Given the description of an element on the screen output the (x, y) to click on. 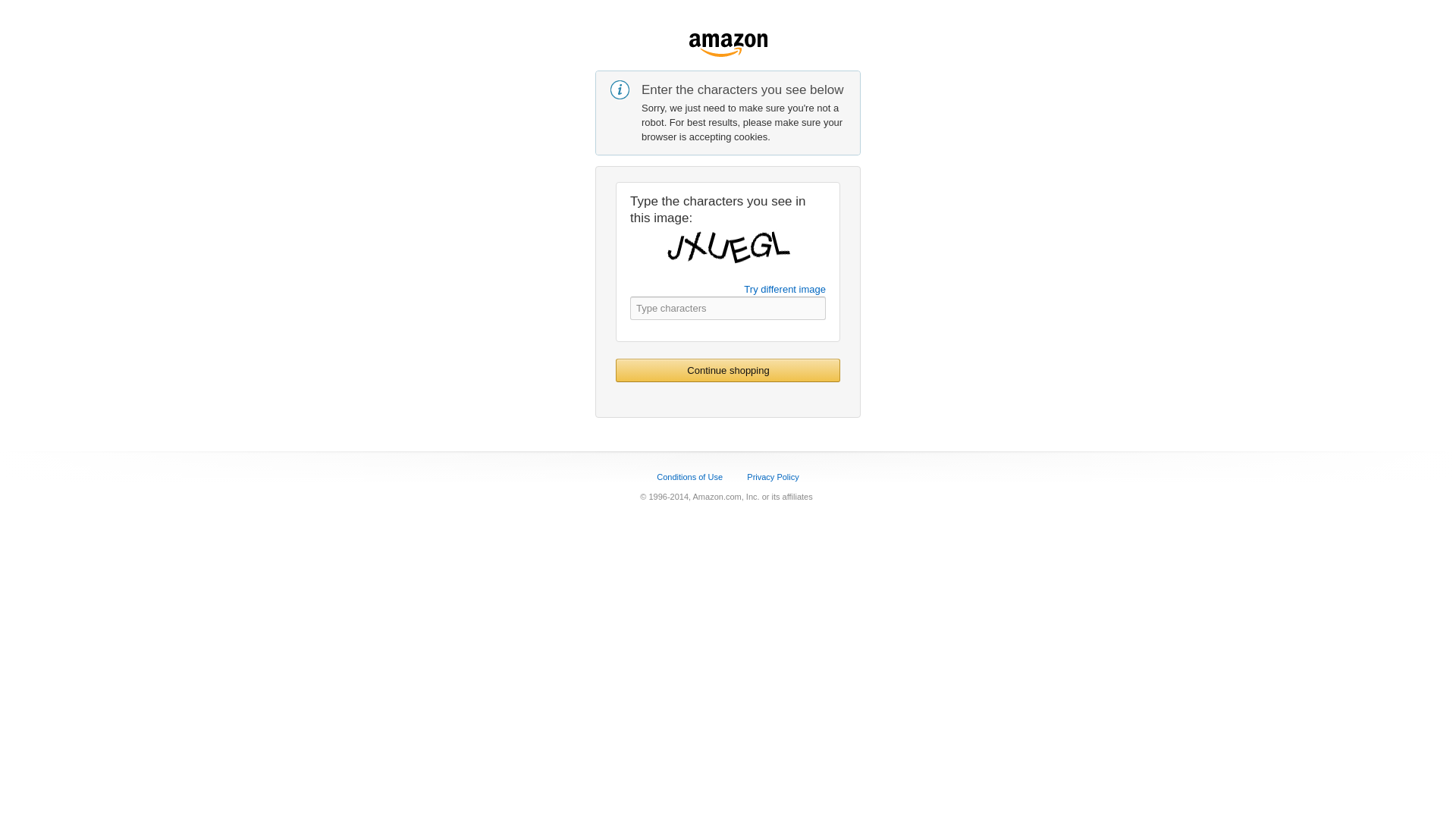
Conditions of Use (689, 476)
Privacy Policy (771, 476)
Continue shopping (727, 370)
Try different image (784, 288)
